Given the description of an element on the screen output the (x, y) to click on. 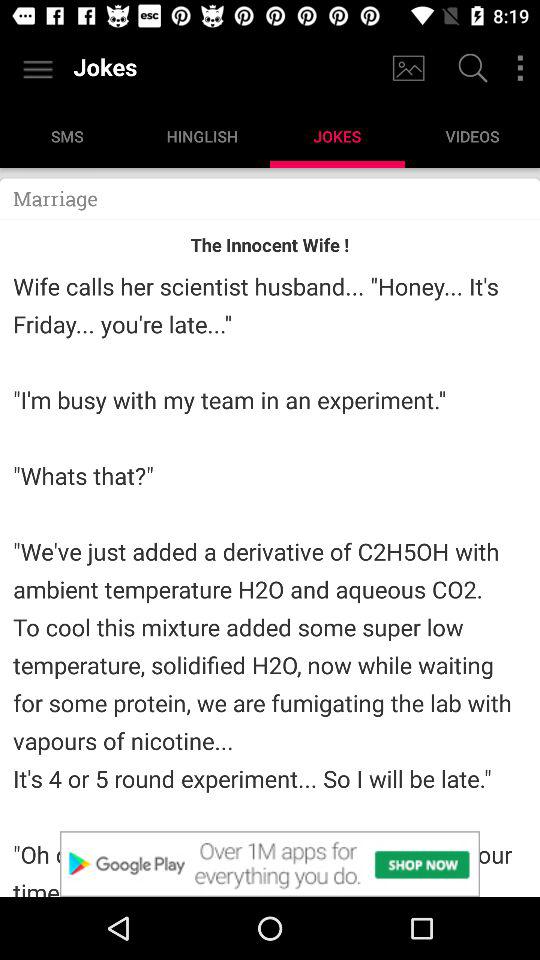
more options (520, 67)
